Given the description of an element on the screen output the (x, y) to click on. 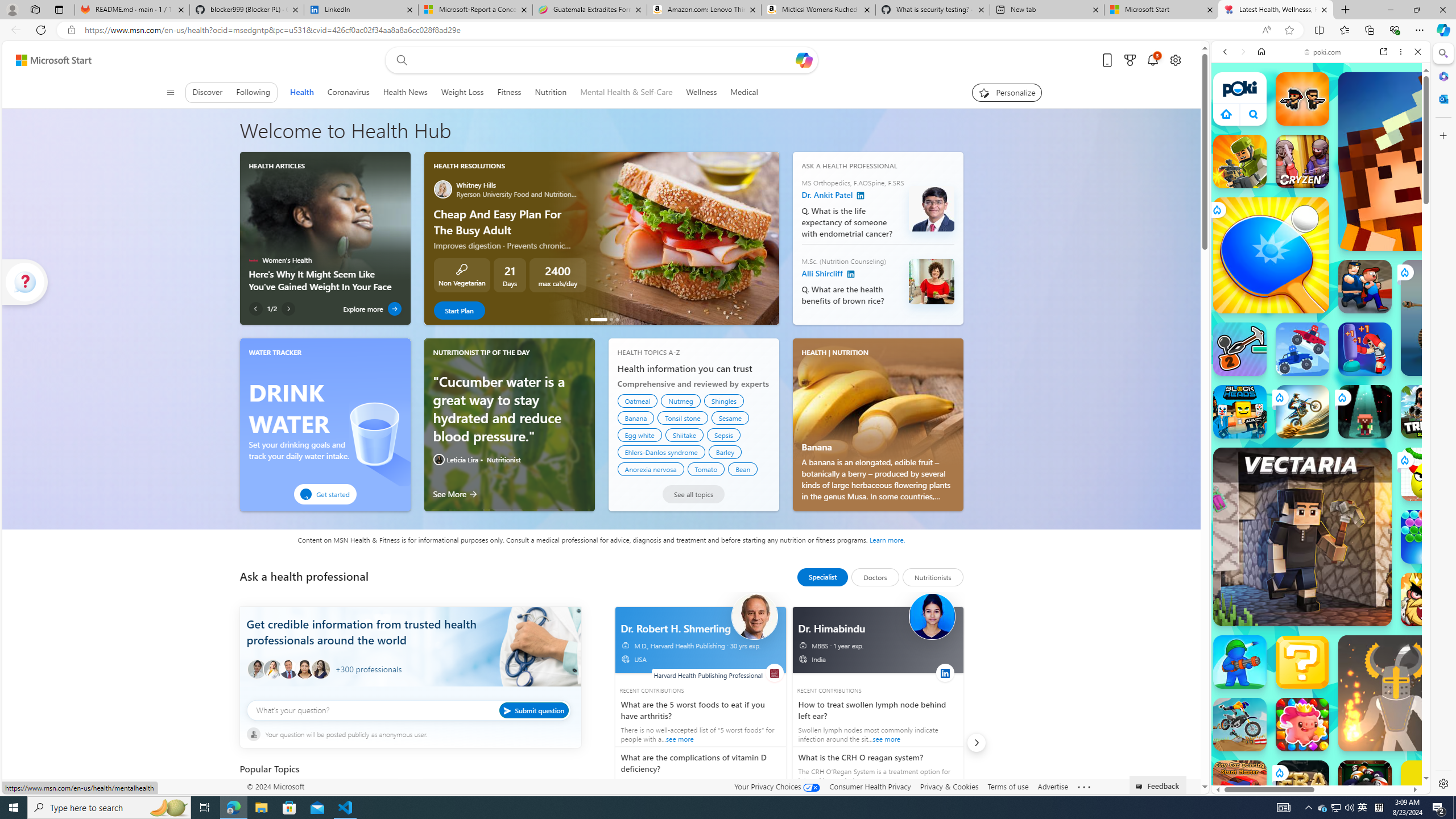
Shooting Games (1320, 295)
Tribals.io (1427, 411)
Kour.io (1239, 161)
Class: health-tip-image (438, 459)
Health professional icon - Dr. Himabindu  (931, 615)
Health professional icon - Dr. Robert H. Shmerling (753, 615)
Vectaria.io (1301, 536)
Car Games (1320, 267)
Zombie Rush (1302, 98)
Class: vecIn (804, 661)
What's your question? (408, 710)
Previous Slide (432, 237)
